Given the description of an element on the screen output the (x, y) to click on. 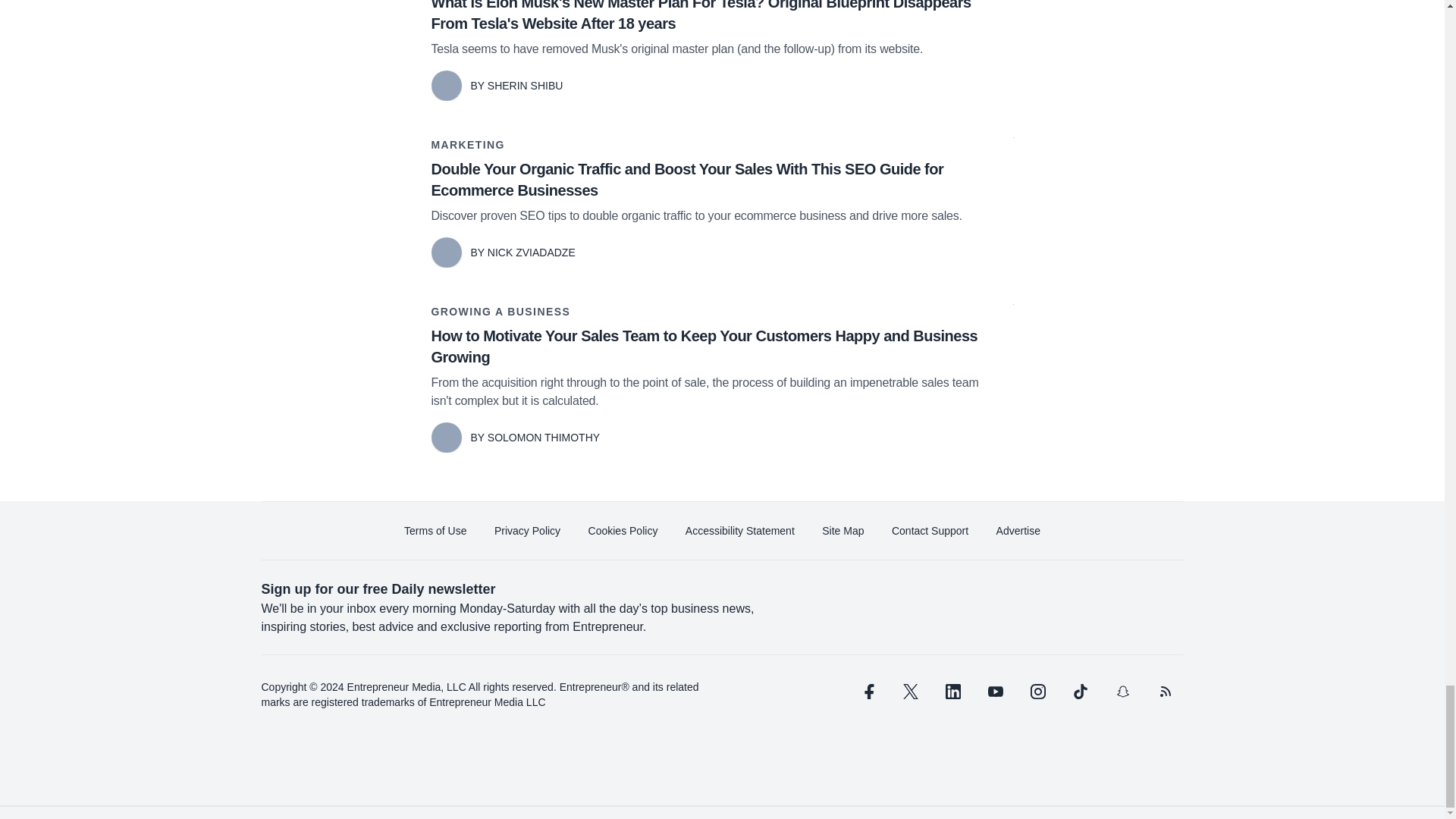
youtube (994, 691)
snapchat (1121, 691)
linkedin (952, 691)
instagram (1037, 691)
twitter (909, 691)
facebook (866, 691)
tiktok (1079, 691)
